Given the description of an element on the screen output the (x, y) to click on. 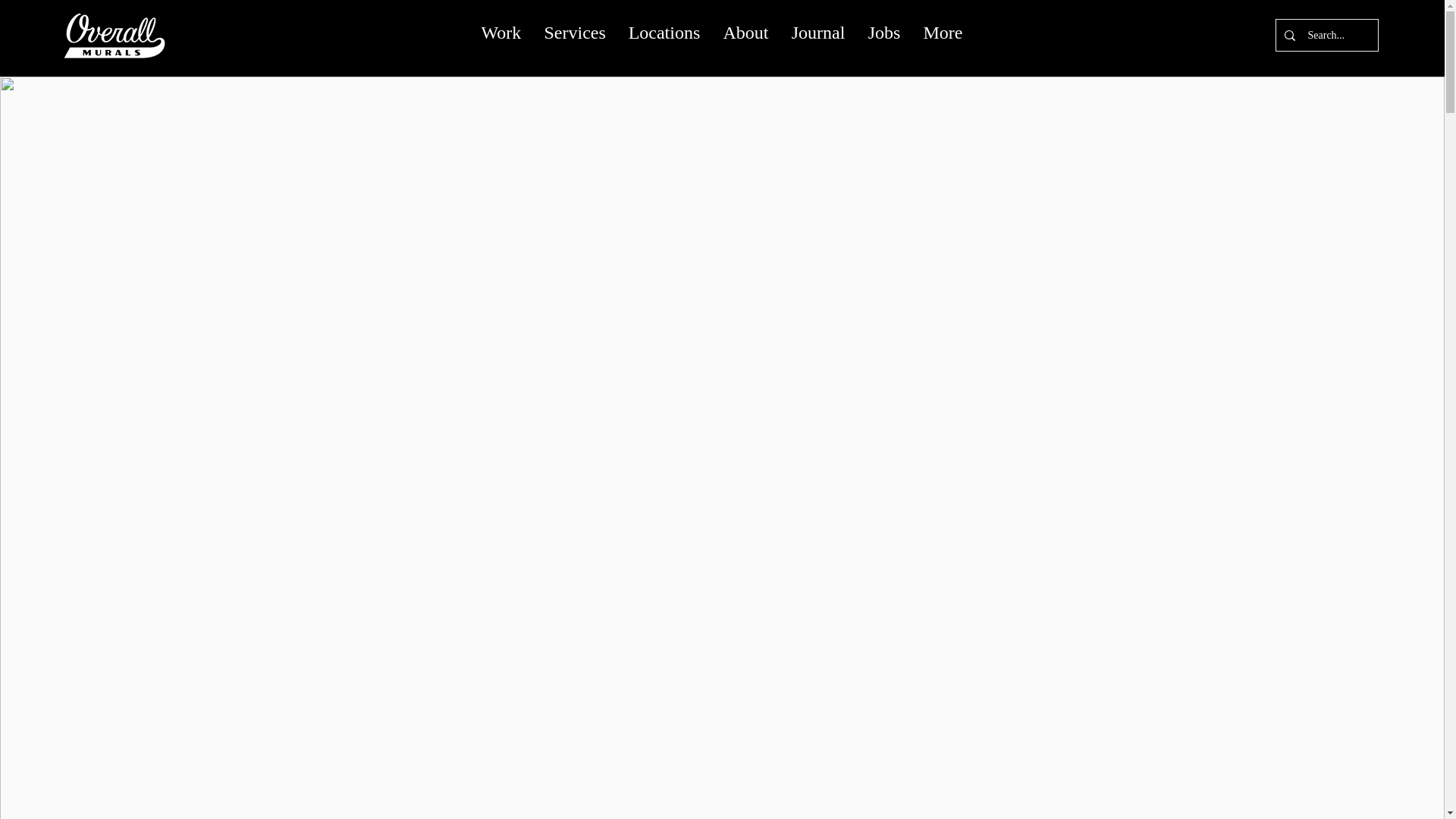
Services (573, 32)
Locations (663, 32)
About (744, 32)
Journal (817, 32)
Work (500, 32)
Jobs (883, 32)
